Given the description of an element on the screen output the (x, y) to click on. 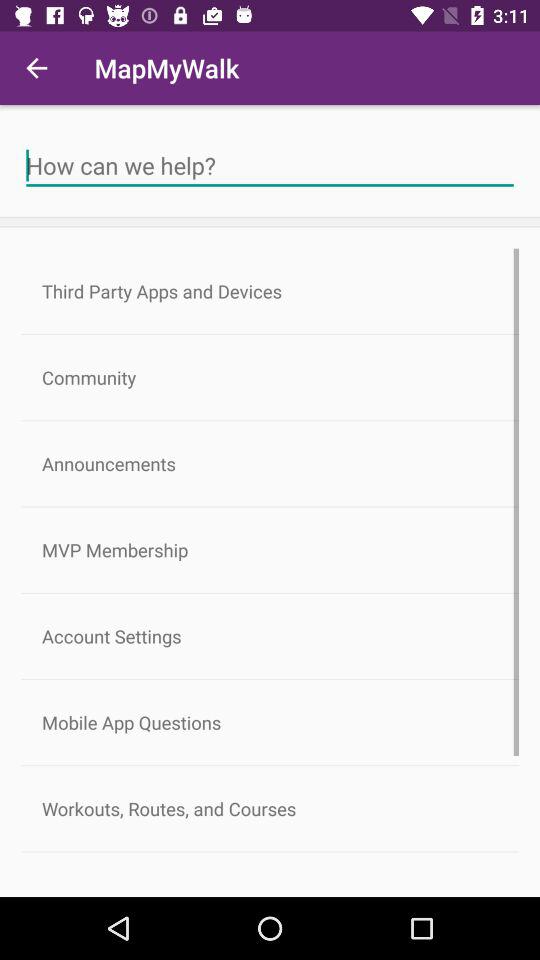
tap the item next to mapmywalk icon (36, 68)
